Given the description of an element on the screen output the (x, y) to click on. 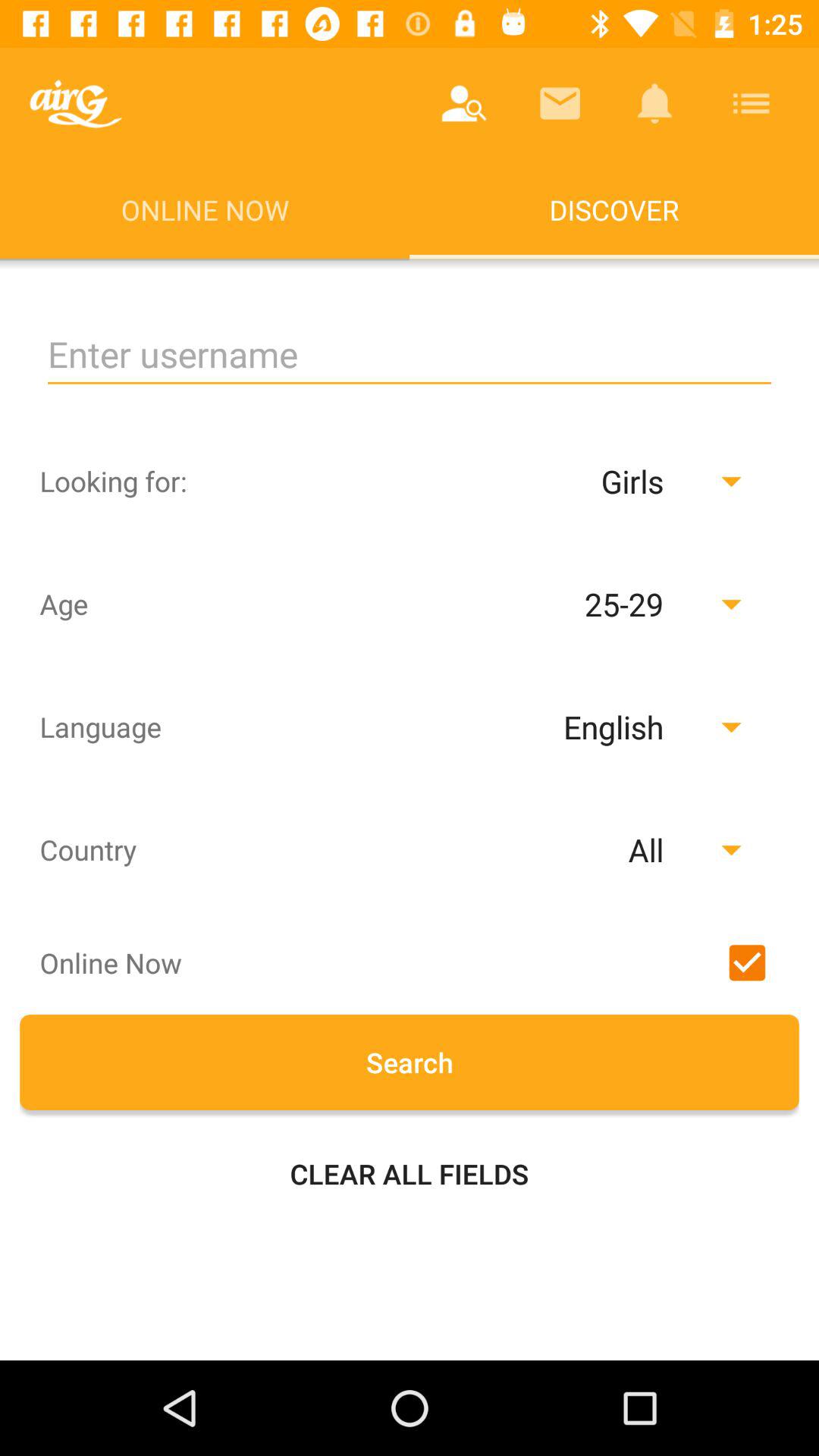
toggle online now (747, 962)
